Given the description of an element on the screen output the (x, y) to click on. 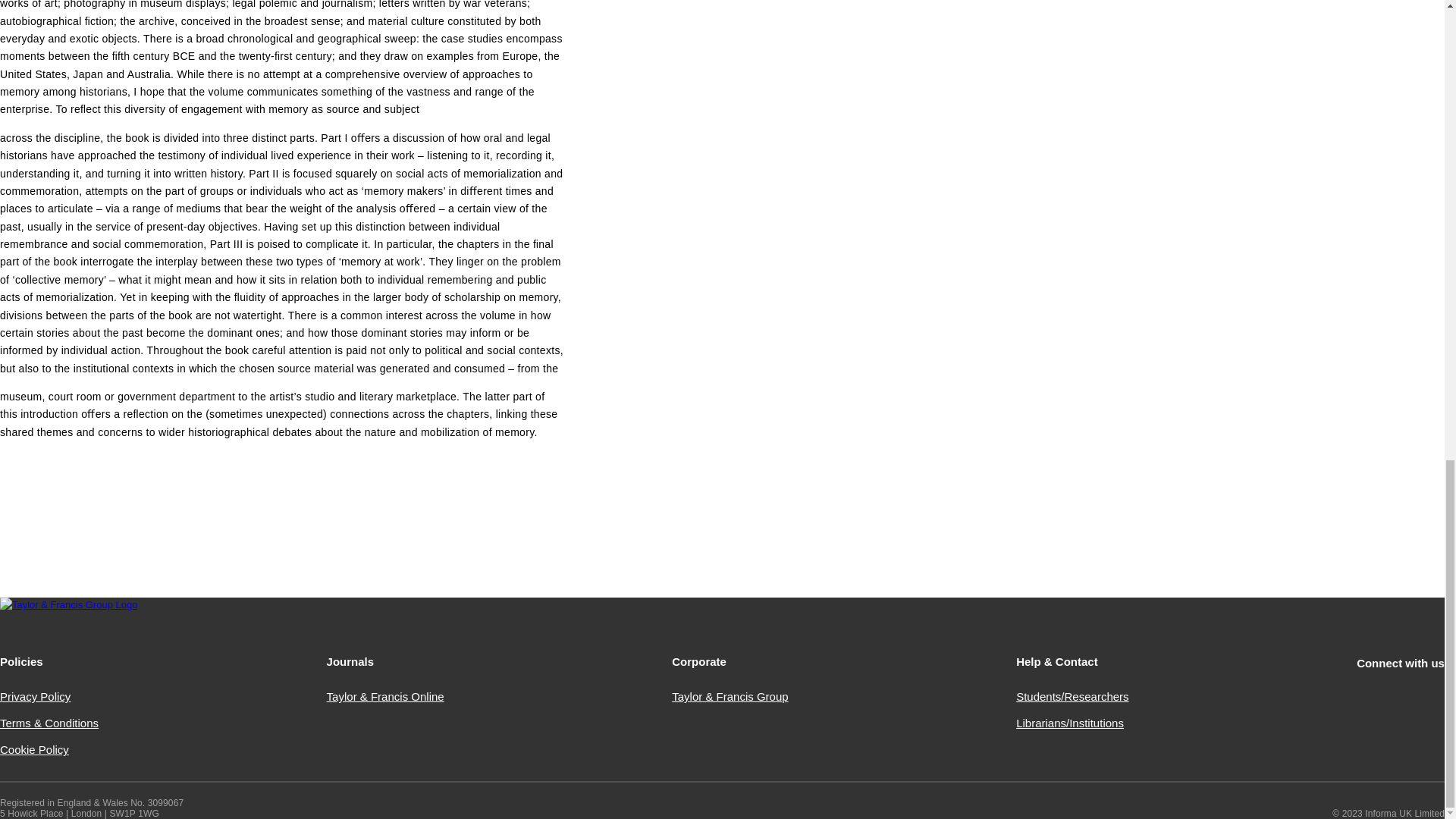
Privacy Policy (34, 696)
Cookie Policy (34, 749)
